Given the description of an element on the screen output the (x, y) to click on. 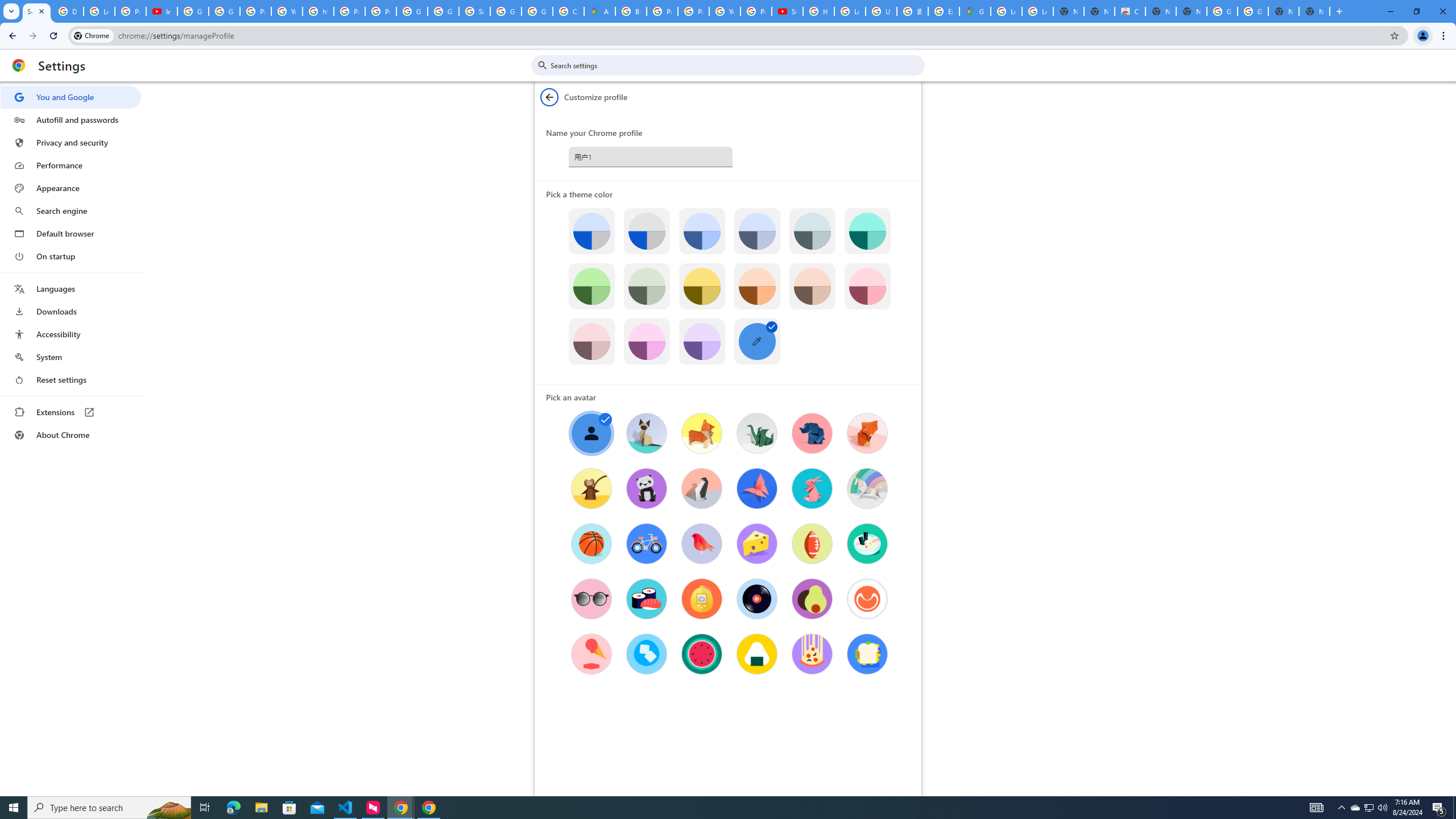
Google Images (1252, 11)
How Chrome protects your passwords - Google Chrome Help (818, 11)
Google Images (1222, 11)
About Chrome (70, 434)
YouTube (286, 11)
Reset settings (70, 379)
